Given the description of an element on the screen output the (x, y) to click on. 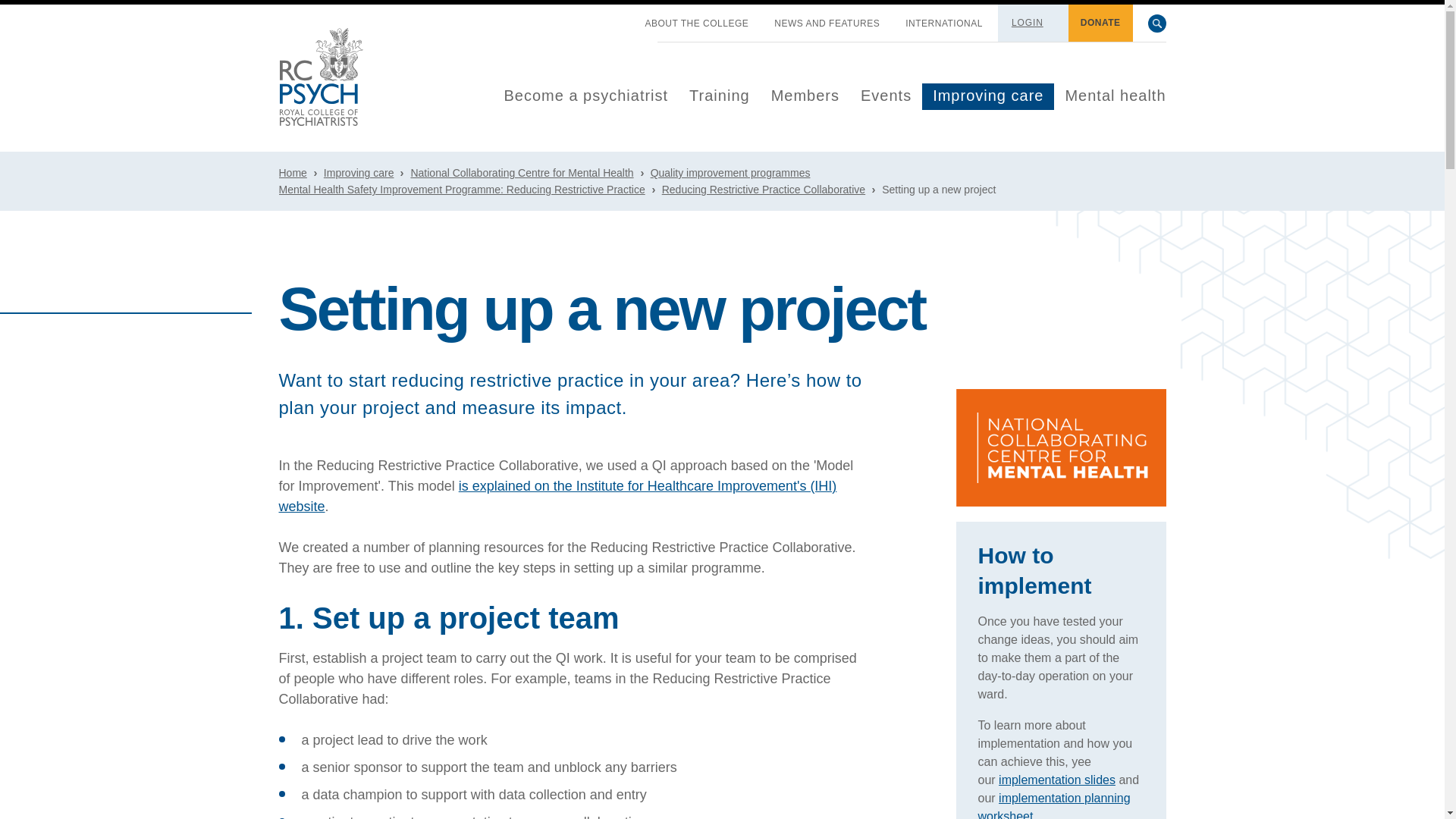
DONATE (1100, 22)
INTERNATIONAL (944, 23)
NEWS AND FEATURES (826, 23)
ABOUT THE COLLEGE (697, 23)
Search (1157, 23)
SKIP NAVIGATION (619, 17)
Become a psychiatrist (585, 96)
Open image in original size (320, 76)
LOGIN (1027, 22)
